Given the description of an element on the screen output the (x, y) to click on. 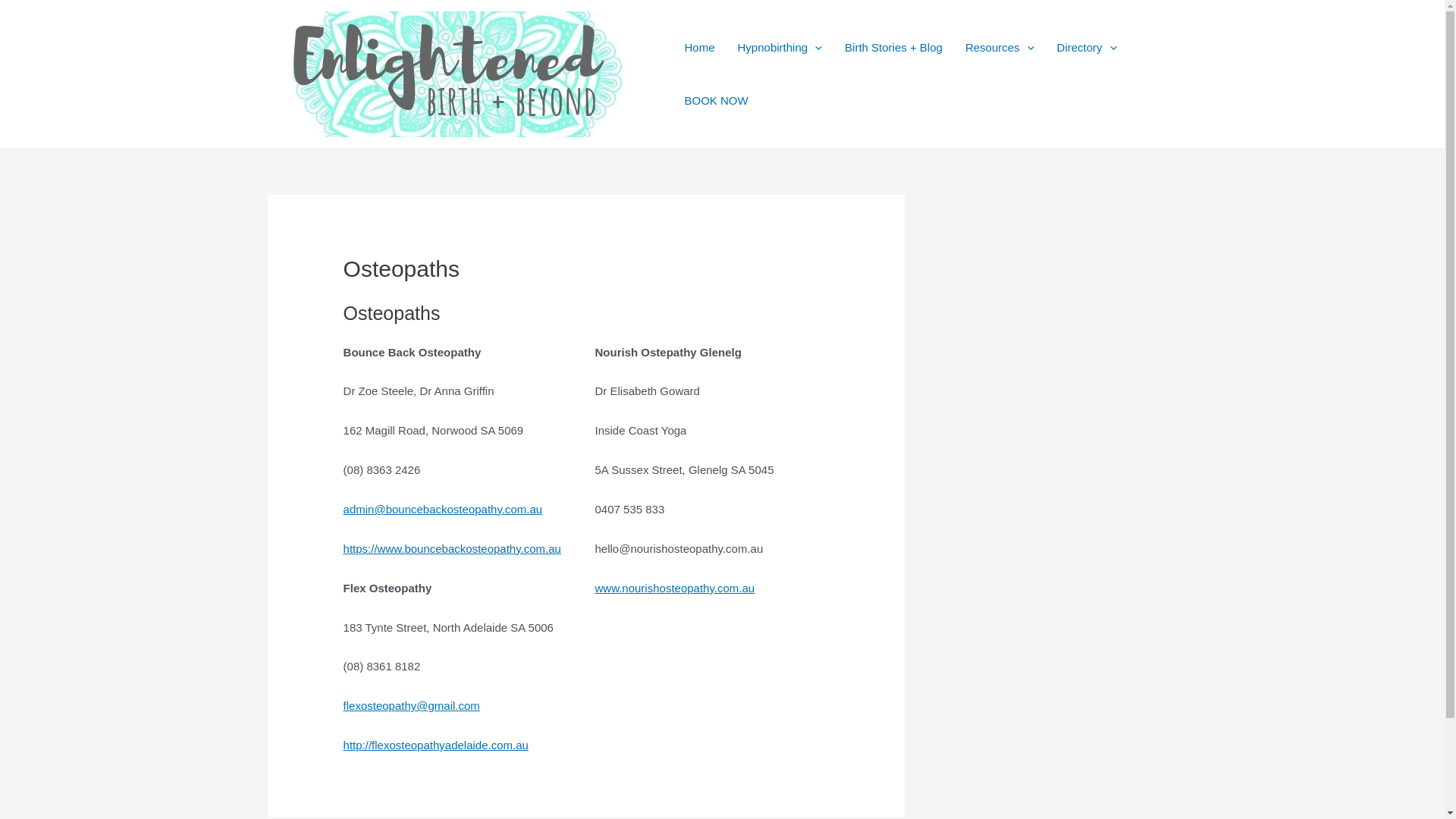
Resources Element type: text (999, 47)
www.nourishosteopathy.com.au Element type: text (674, 587)
flexosteopathy@gmail.com Element type: text (411, 705)
Directory Element type: text (1086, 47)
https://www.bouncebackosteopathy.com.au Element type: text (452, 548)
Home Element type: text (699, 47)
BOOK NOW Element type: text (716, 100)
Hypnobirthing Element type: text (780, 47)
http://flexosteopathyadelaide.com.au Element type: text (435, 744)
Birth Stories + Blog Element type: text (893, 47)
admin@bouncebackosteopathy.com.au Element type: text (442, 508)
